Given the description of an element on the screen output the (x, y) to click on. 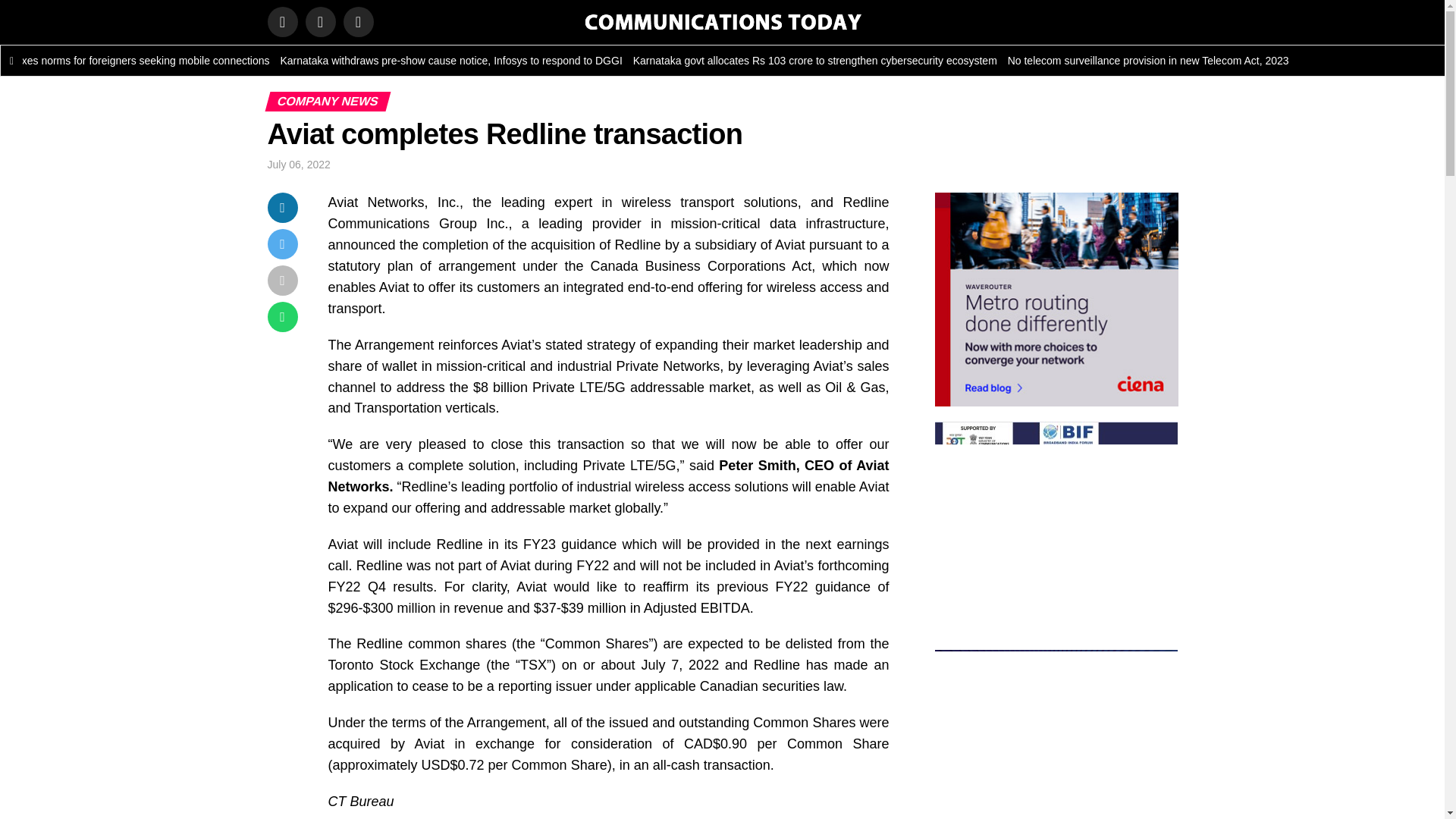
DoT relaxes norms for foreigners seeking mobile connections (141, 60)
No telecom surveillance provision in new Telecom Act, 2023 (1162, 60)
